Given the description of an element on the screen output the (x, y) to click on. 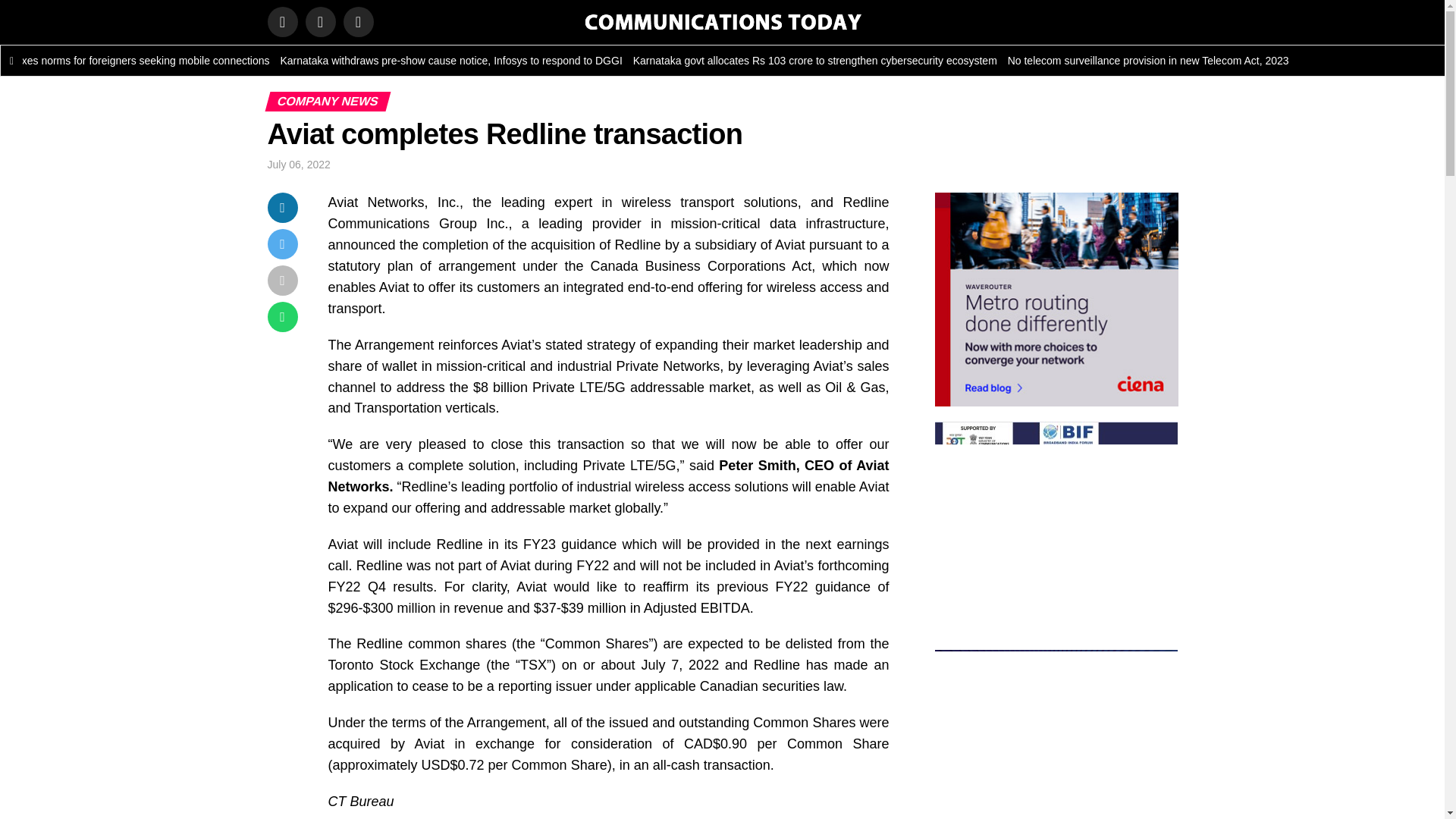
DoT relaxes norms for foreigners seeking mobile connections (141, 60)
No telecom surveillance provision in new Telecom Act, 2023 (1162, 60)
